Given the description of an element on the screen output the (x, y) to click on. 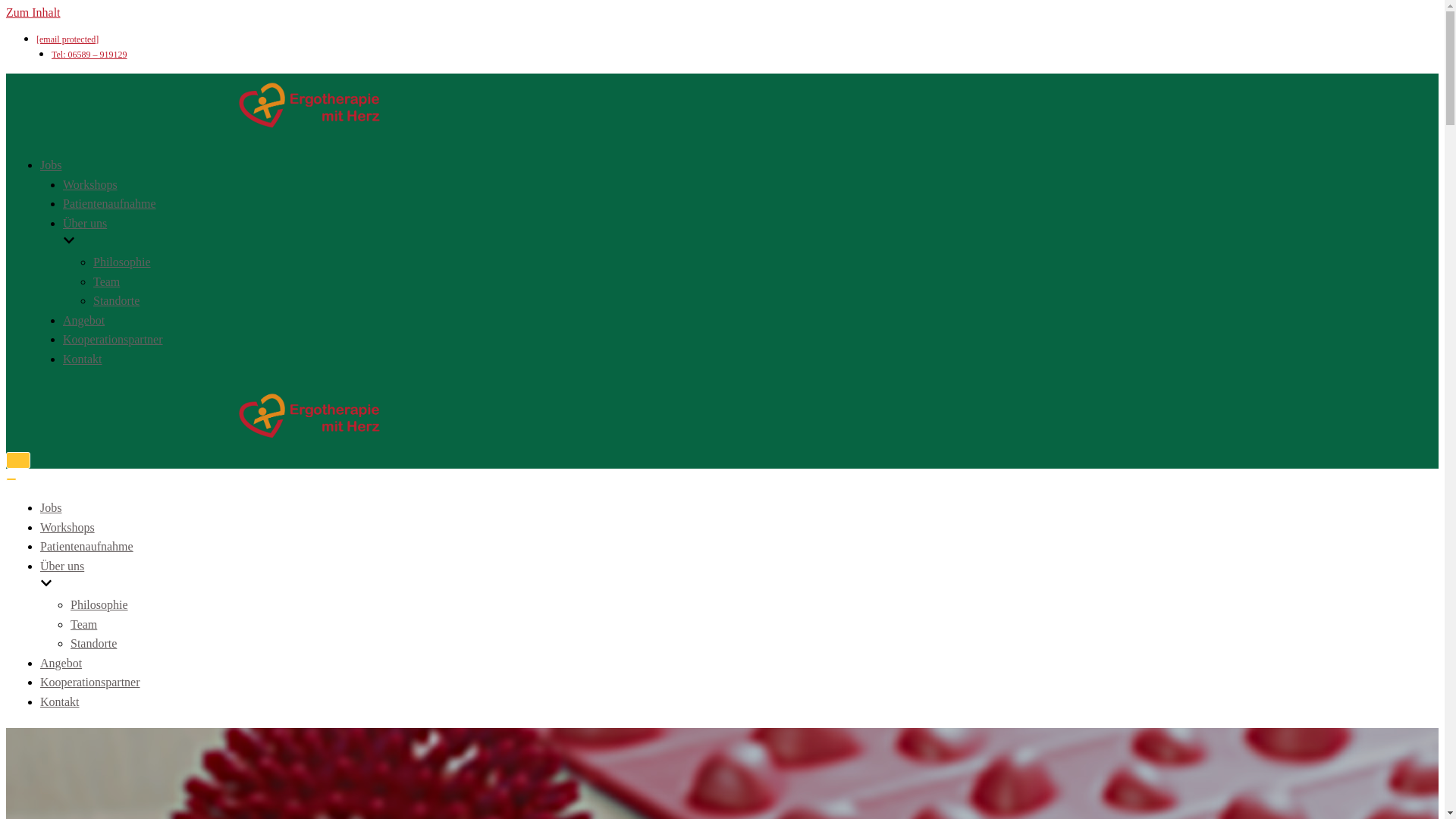
Kontakt (60, 701)
Angebot (83, 319)
Standorte (92, 643)
Angebot (60, 662)
Standorte (116, 300)
Jobs (50, 507)
Patientenaufnahme (108, 203)
Patientenaufnahme (86, 545)
Kontakt (81, 358)
Workshops (67, 526)
Kooperationspartner (112, 338)
Team (106, 281)
Philosophie (98, 604)
Philosophie (122, 261)
Zum Inhalt (33, 11)
